Given the description of an element on the screen output the (x, y) to click on. 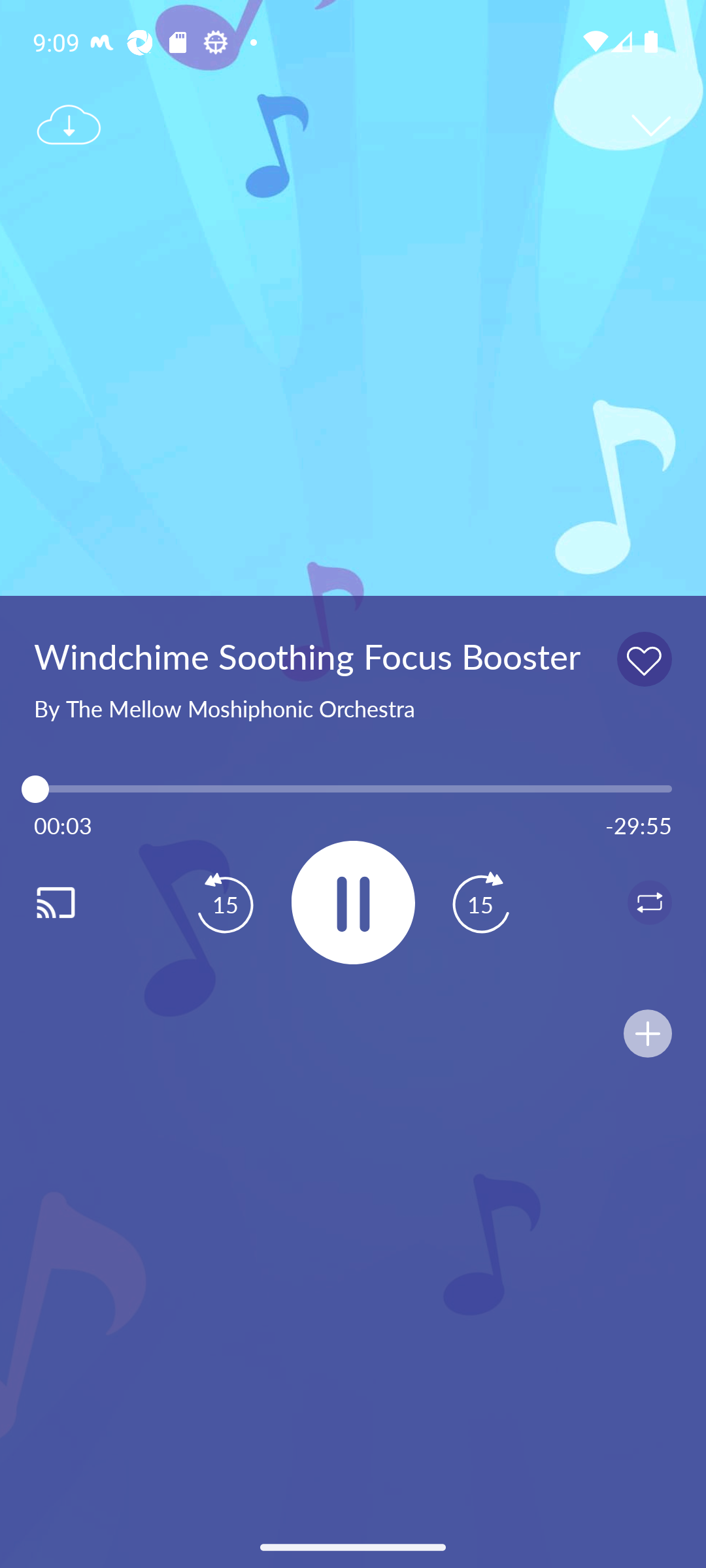
3.0 (352, 789)
Cast. Disconnected (76, 902)
